Given the description of an element on the screen output the (x, y) to click on. 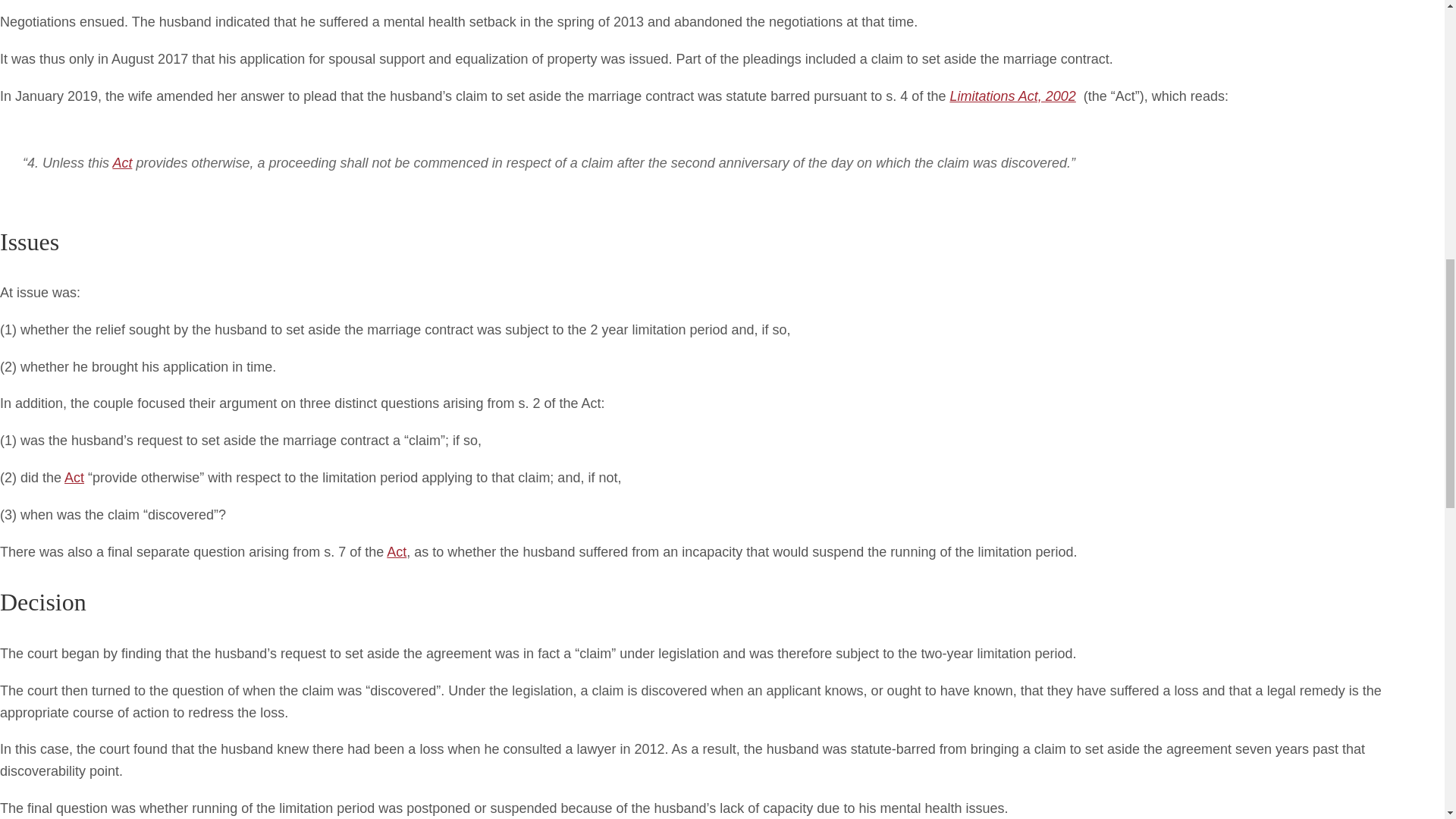
Act (74, 477)
Act (396, 551)
Act (122, 161)
Limitations Act, 2002 (1012, 96)
